Given the description of an element on the screen output the (x, y) to click on. 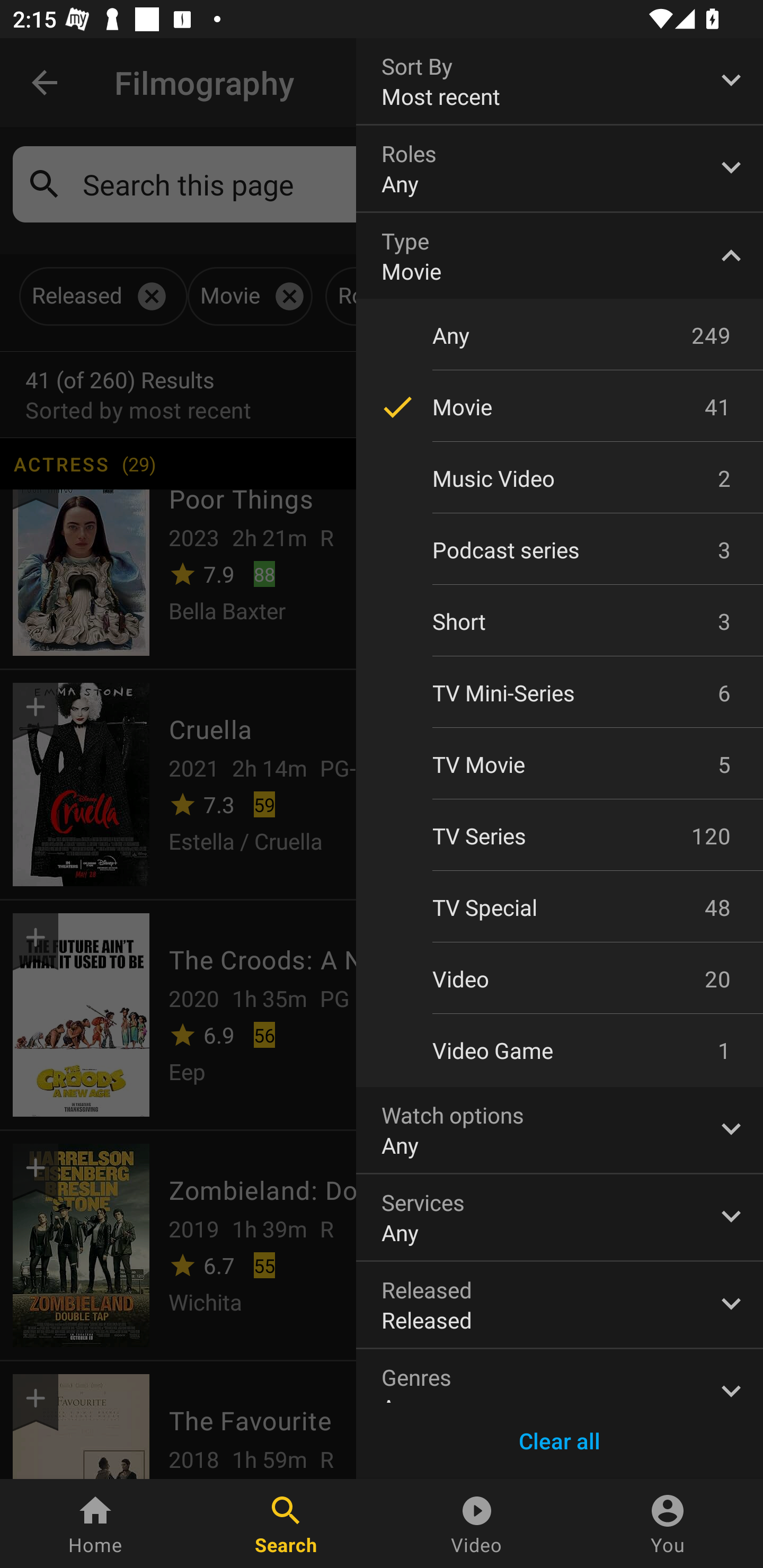
Sort By Most recent (559, 80)
Roles Any (559, 168)
Type Movie (559, 256)
Any 249 (559, 335)
Movie 41 (559, 406)
Music Video 2 (559, 477)
Podcast series 3 (559, 549)
Short 3 (559, 621)
TV Mini-Series 6 (559, 692)
TV Movie 5 (559, 764)
TV Series 120 (559, 835)
TV Special 48 (559, 906)
Video 20 (559, 978)
Video Game 1 (559, 1050)
Watch options Any (559, 1129)
Services Any (559, 1217)
Released (559, 1304)
Genres Any (559, 1375)
Clear all (559, 1440)
Home (95, 1523)
Video (476, 1523)
You (667, 1523)
